Given the description of an element on the screen output the (x, y) to click on. 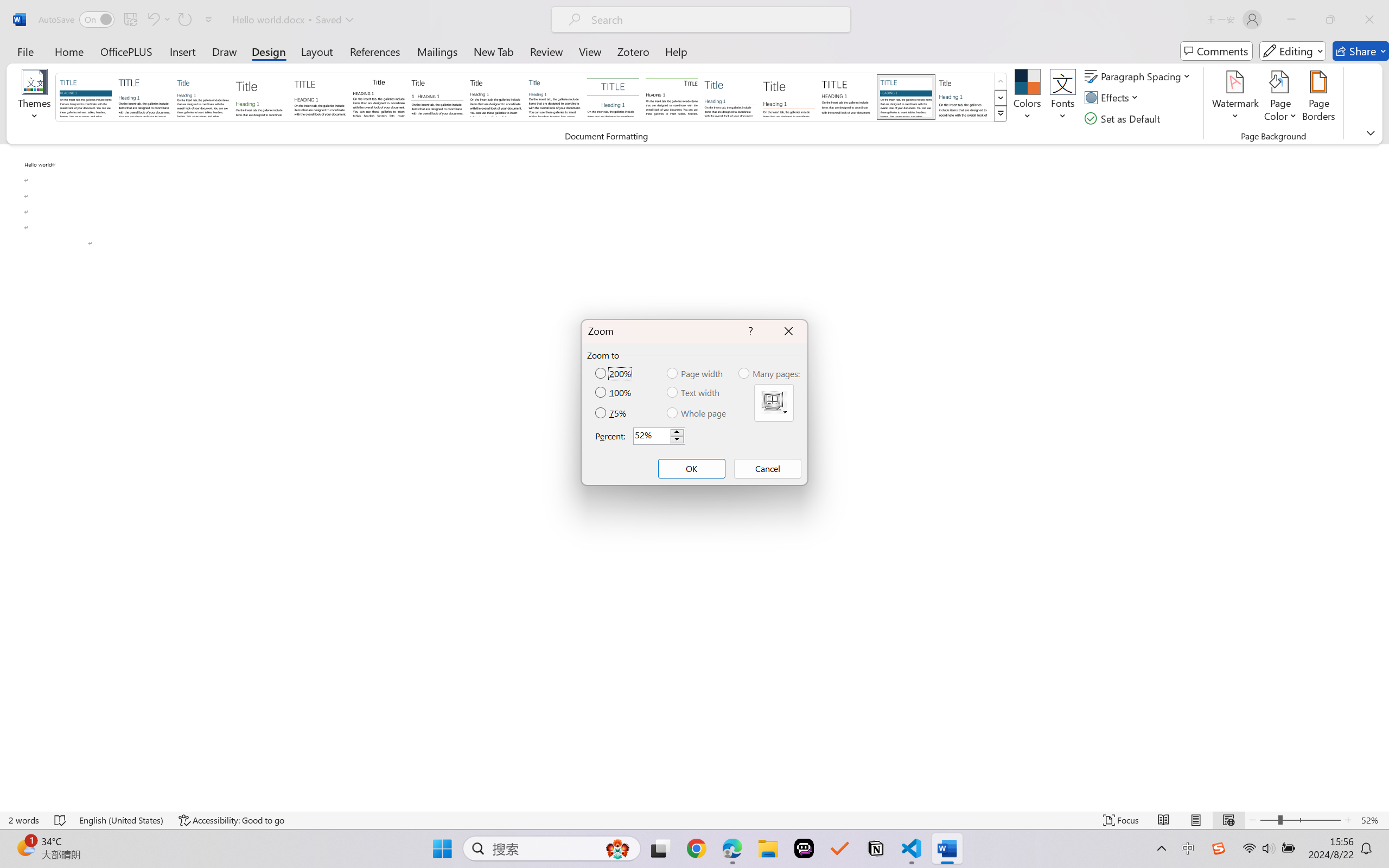
Lines (Distinctive) (671, 96)
OK (691, 468)
View (589, 51)
Focus  (1121, 819)
Draw (224, 51)
75% (611, 412)
Text width (694, 392)
File Tab (24, 51)
Word (964, 96)
Page Borders... (1318, 97)
